Given the description of an element on the screen output the (x, y) to click on. 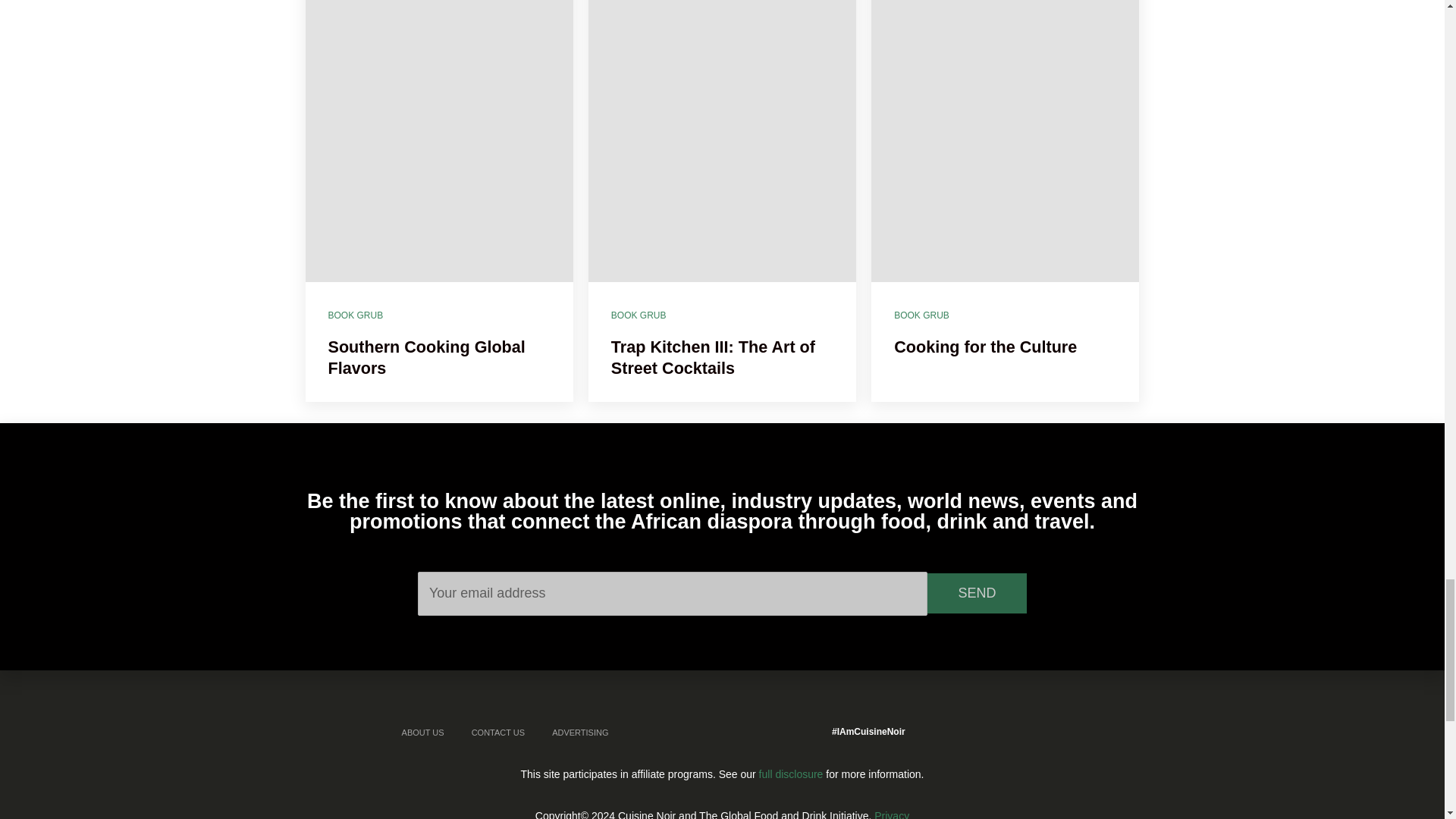
Southern Cooking Global Flavors (438, 140)
Cooking for the Culture (1004, 140)
V. Sheree Williams (633, 280)
V. Sheree Williams (349, 280)
Send (976, 593)
Trap Kitchen III: The Art of Street Cocktails (722, 140)
